Given the description of an element on the screen output the (x, y) to click on. 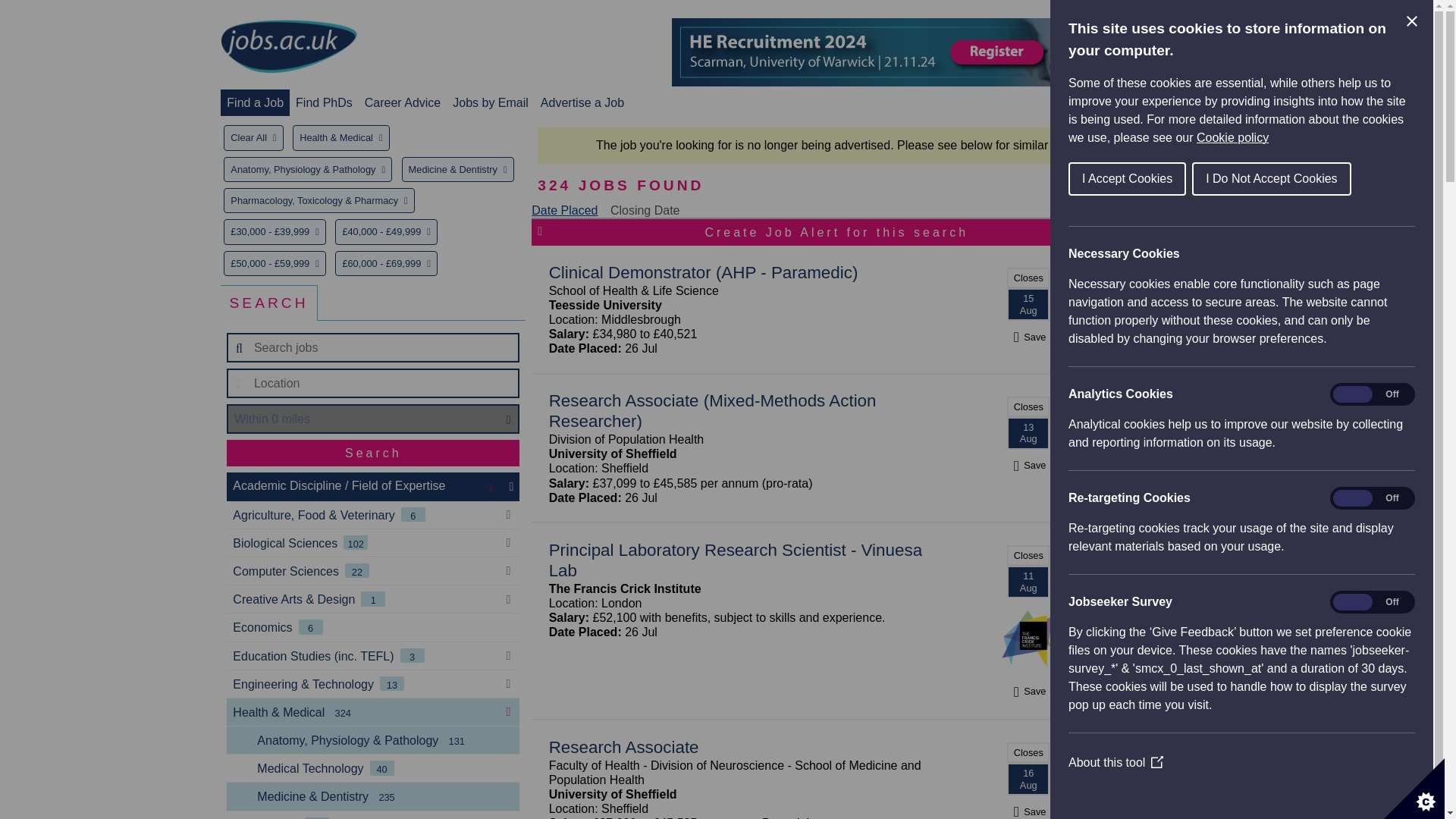
I Do Not Accept Cookies (1310, 178)
Career Advice (403, 102)
Closing Date (644, 210)
Cookie policy (1310, 137)
Save job (1027, 464)
Find PhDs (323, 102)
home page (288, 47)
Save (1027, 690)
Date Placed (563, 210)
Search (373, 452)
Save job (1027, 336)
Jobs by Email (490, 102)
I Accept Cookies (1190, 178)
Save job (1027, 690)
Save (1027, 336)
